Given the description of an element on the screen output the (x, y) to click on. 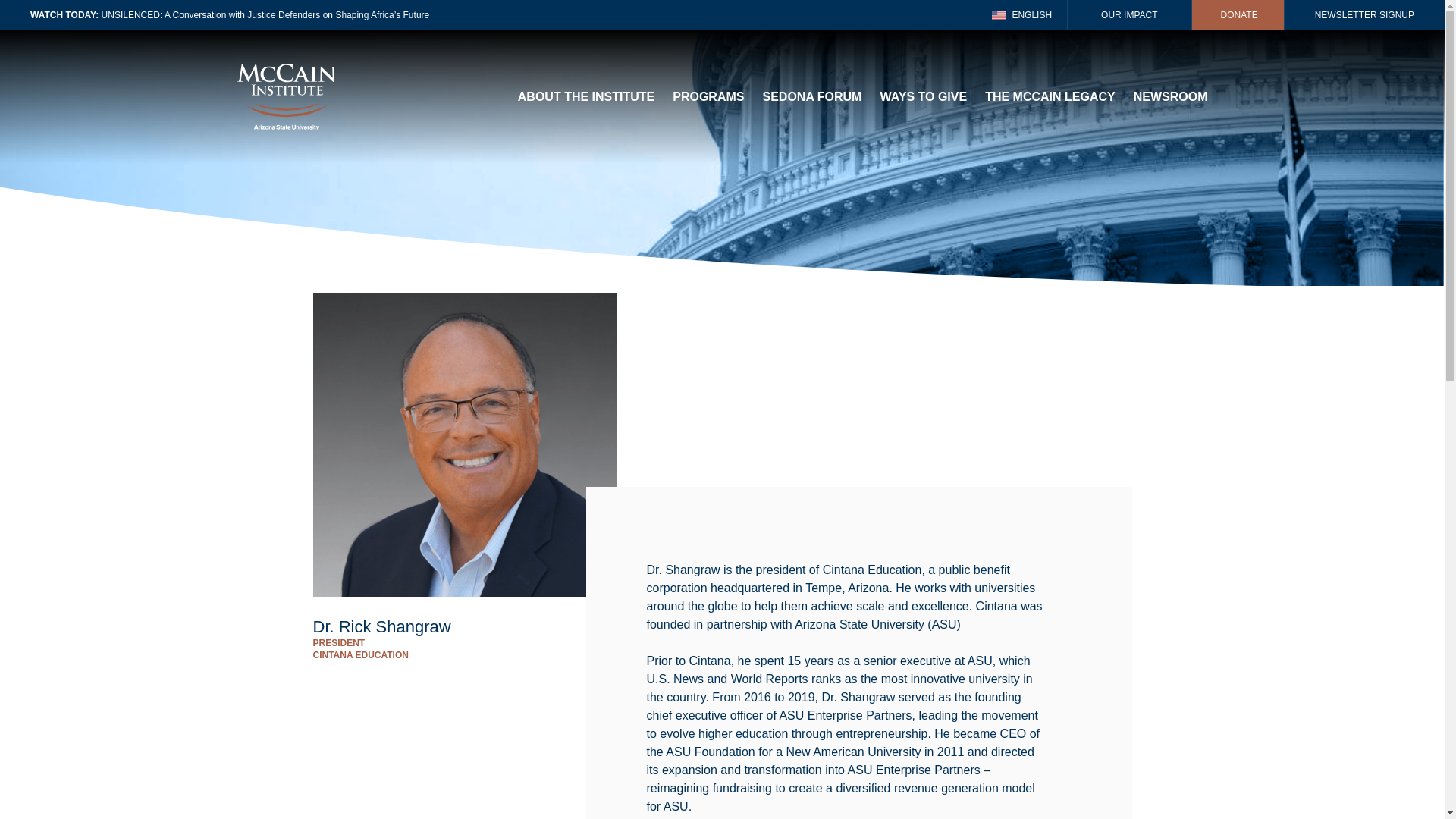
PROGRAMS (708, 96)
SEDONA FORUM (811, 96)
English (1021, 15)
DONATE (1238, 15)
OUR IMPACT (1129, 15)
ENGLISH (1021, 15)
ABOUT THE INSTITUTE (585, 96)
WAYS TO GIVE (922, 96)
